Given the description of an element on the screen output the (x, y) to click on. 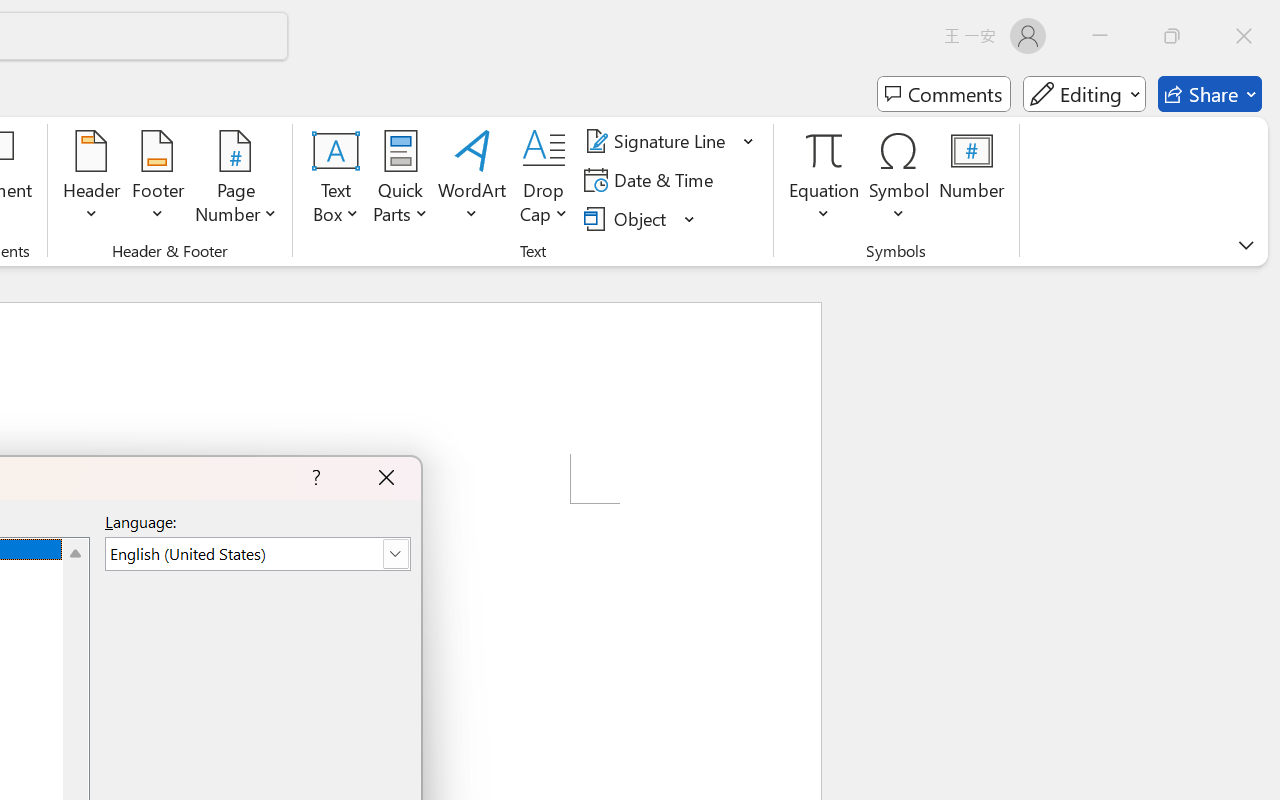
Signature Line (669, 141)
Object... (628, 218)
Quick Parts (400, 179)
Symbol (899, 179)
Comments (943, 94)
Text Box (335, 179)
Date & Time... (651, 179)
Language: (257, 553)
WordArt (472, 179)
Number... (971, 179)
Equation (823, 150)
Minimize (1099, 36)
